Given the description of an element on the screen output the (x, y) to click on. 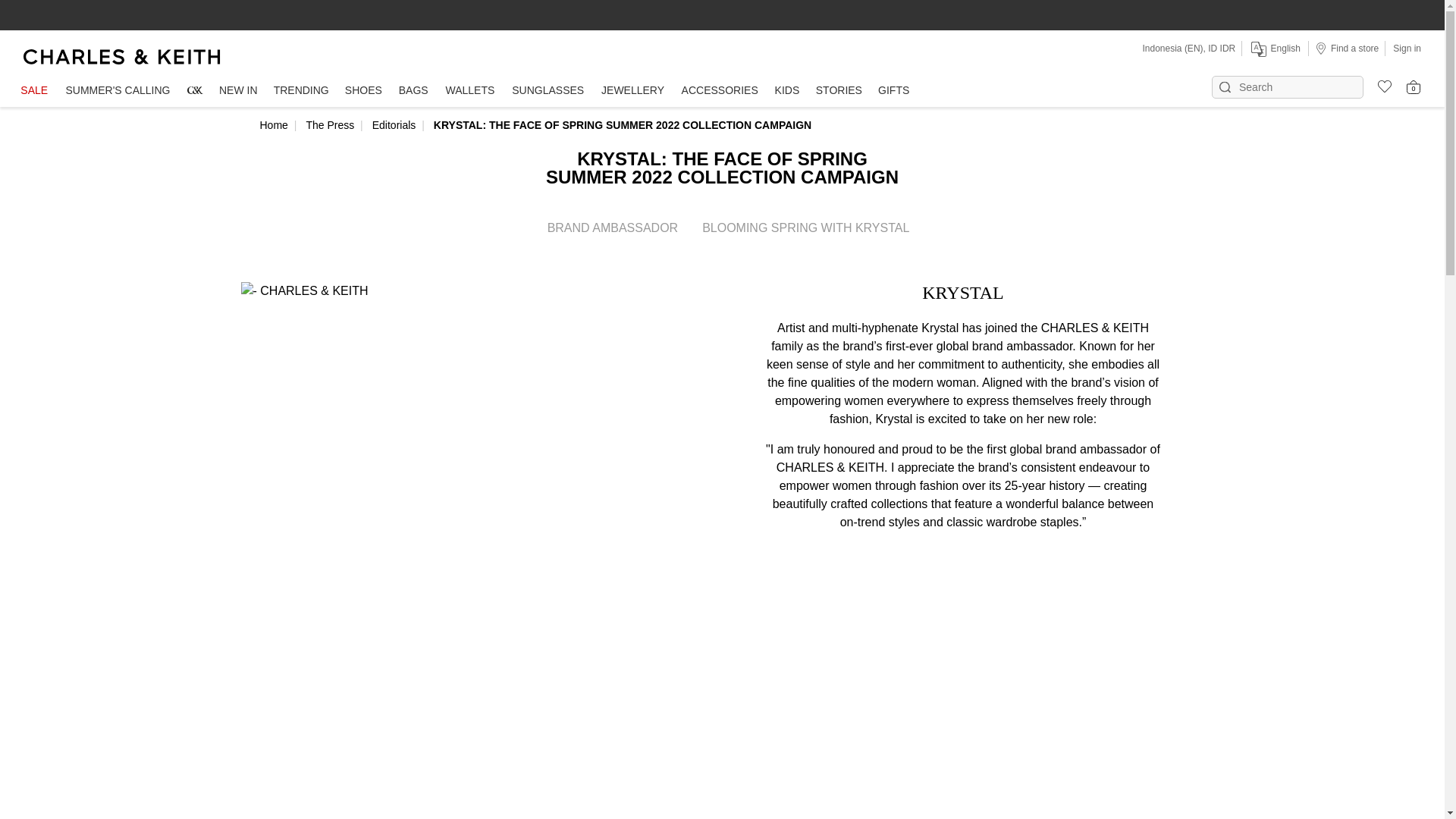
STORIES (838, 91)
Sign in (1407, 48)
wishlist (1378, 84)
KIDS (787, 91)
SUMMER'S CALLING (117, 91)
JEWELLERY (632, 91)
TRENDING (300, 91)
SALE (33, 91)
GIFTS (893, 91)
Find a store (1346, 48)
ACCESSORIES (719, 91)
View Cart (1413, 87)
SUNGLASSES (547, 91)
NEW IN (237, 91)
English (1274, 48)
